Given the description of an element on the screen output the (x, y) to click on. 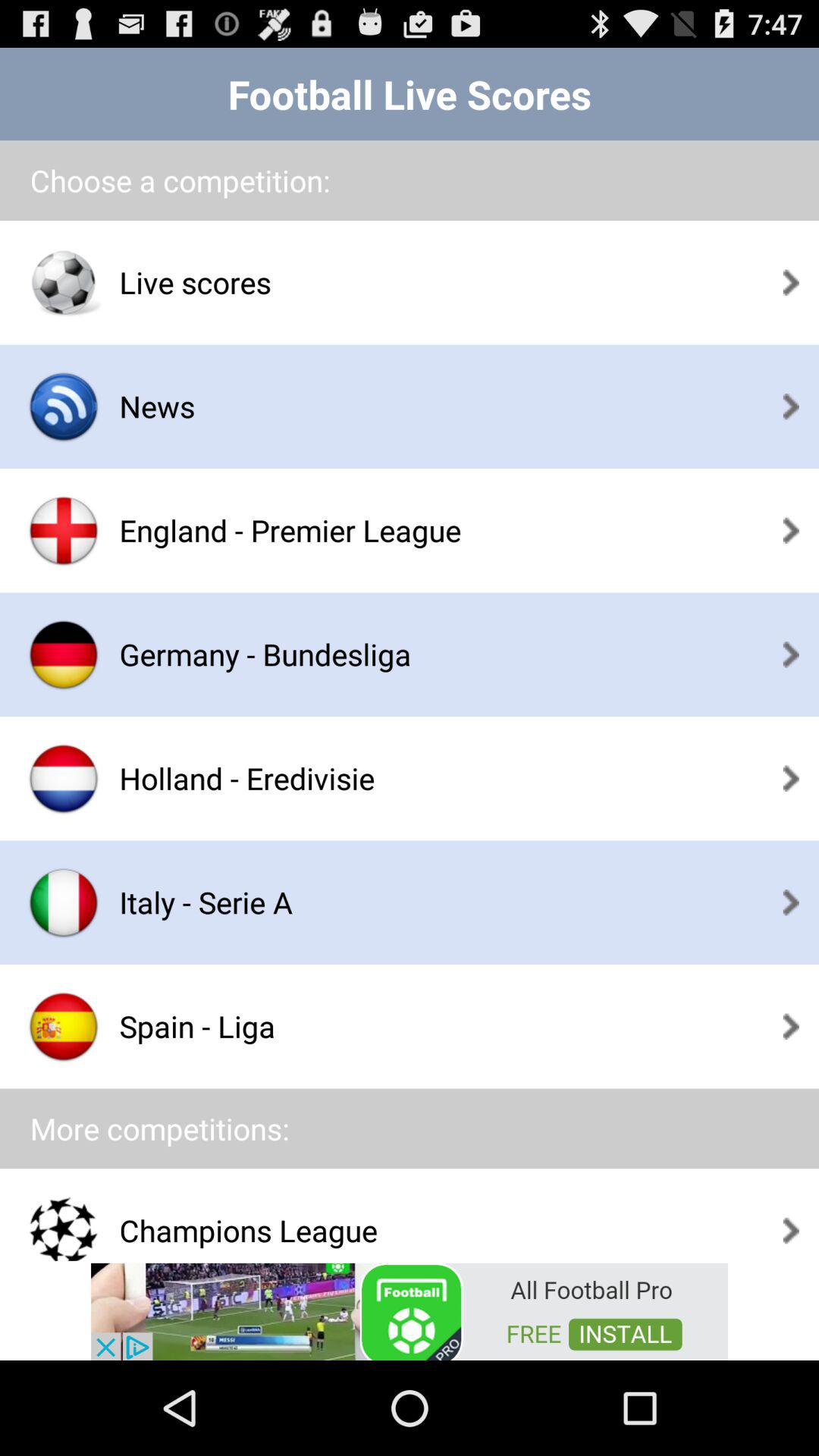
advertisement banner (409, 1310)
